Given the description of an element on the screen output the (x, y) to click on. 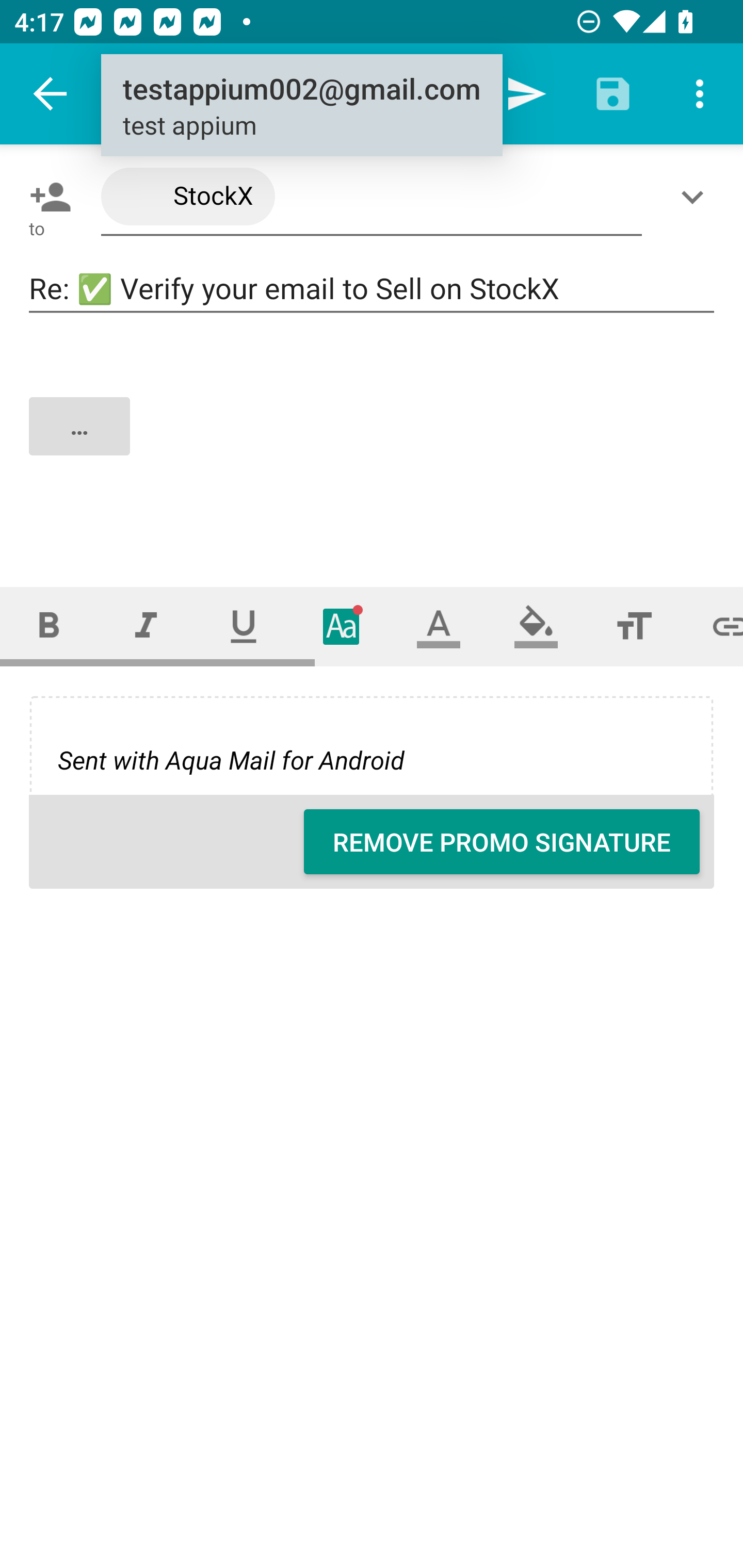
testappium002@gmail.com test appium (301, 105)
